Given the description of an element on the screen output the (x, y) to click on. 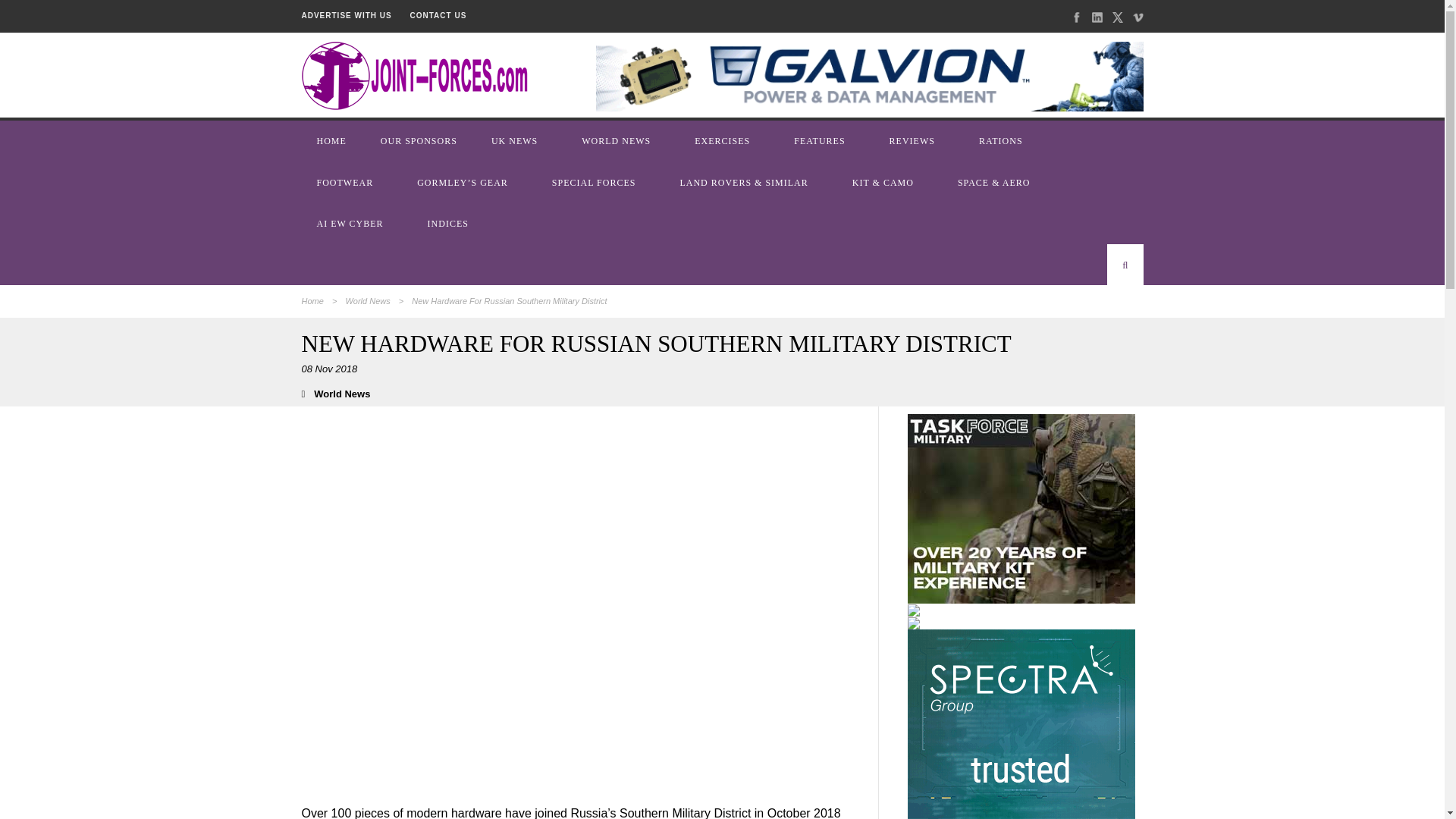
HOME (333, 140)
ADVERTISE WITH US (346, 15)
CONTACT US (438, 15)
